Given the description of an element on the screen output the (x, y) to click on. 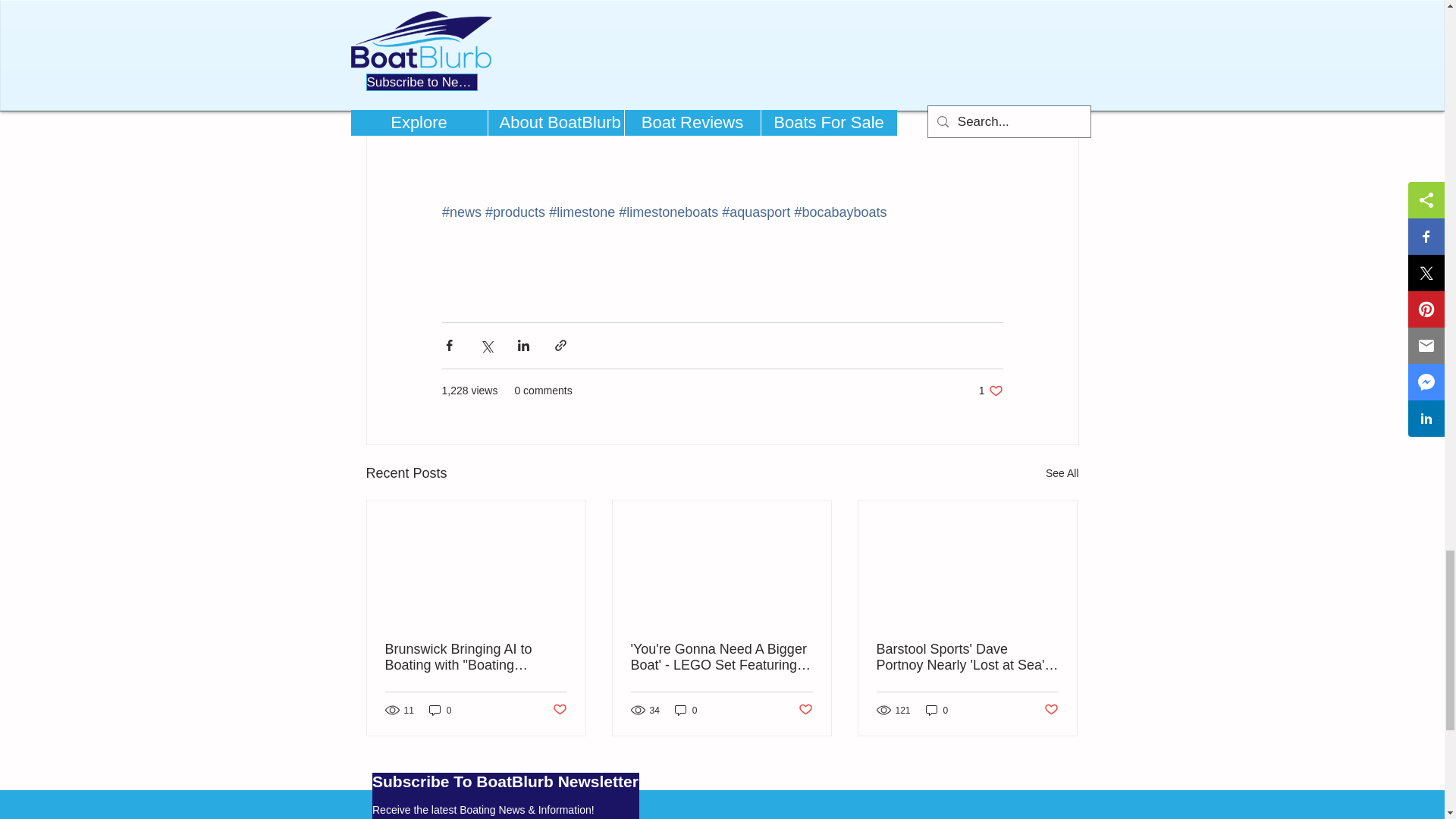
Embedded Content (505, 792)
